Given the description of an element on the screen output the (x, y) to click on. 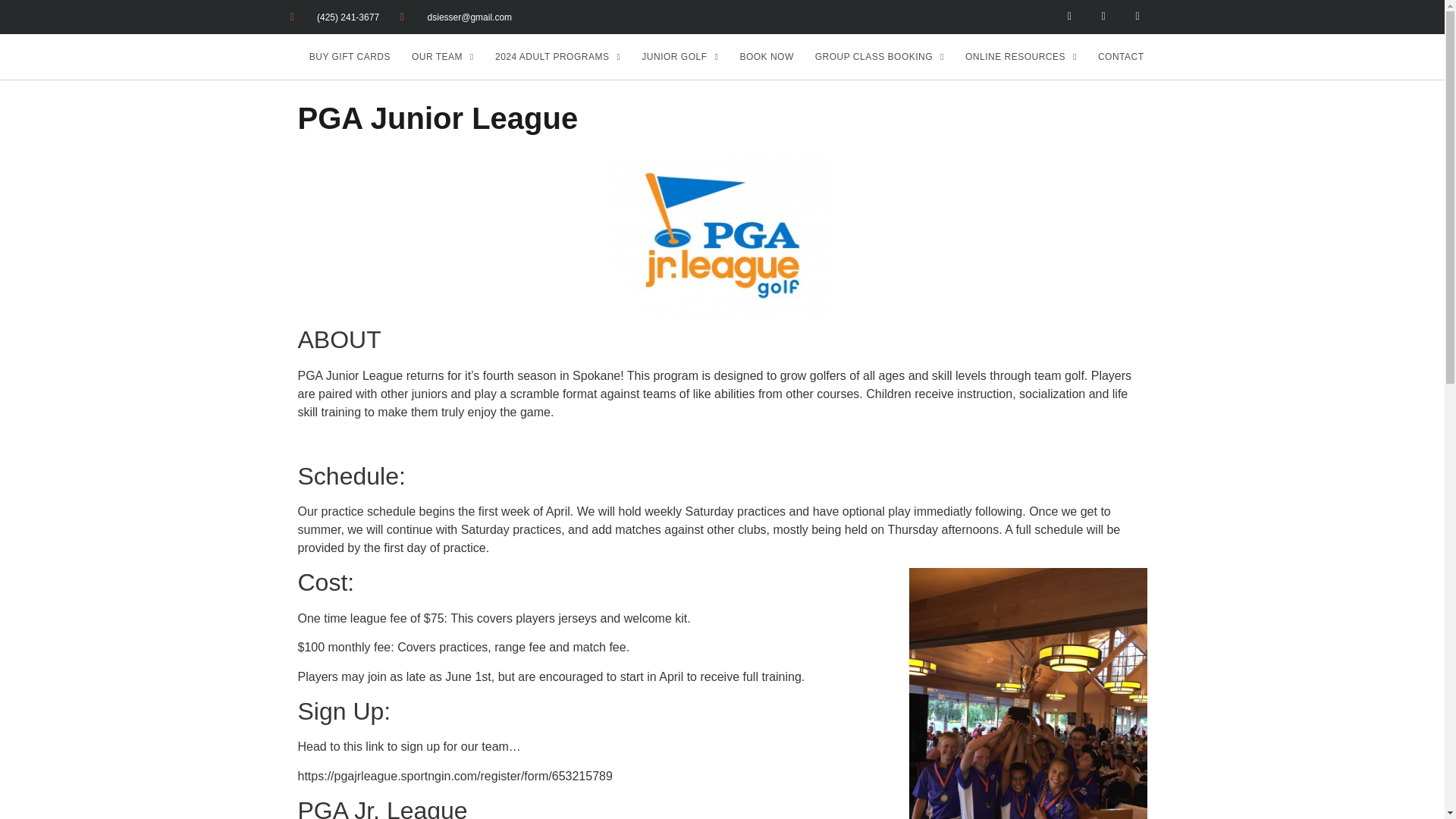
2024 ADULT PROGRAMS (557, 56)
GROUP CLASS BOOKING (880, 56)
BUY GIFT CARDS (349, 56)
ONLINE RESOURCES (1021, 56)
OUR TEAM (442, 56)
JUNIOR GOLF (679, 56)
BOOK NOW (766, 56)
CONTACT (1120, 56)
